Given the description of an element on the screen output the (x, y) to click on. 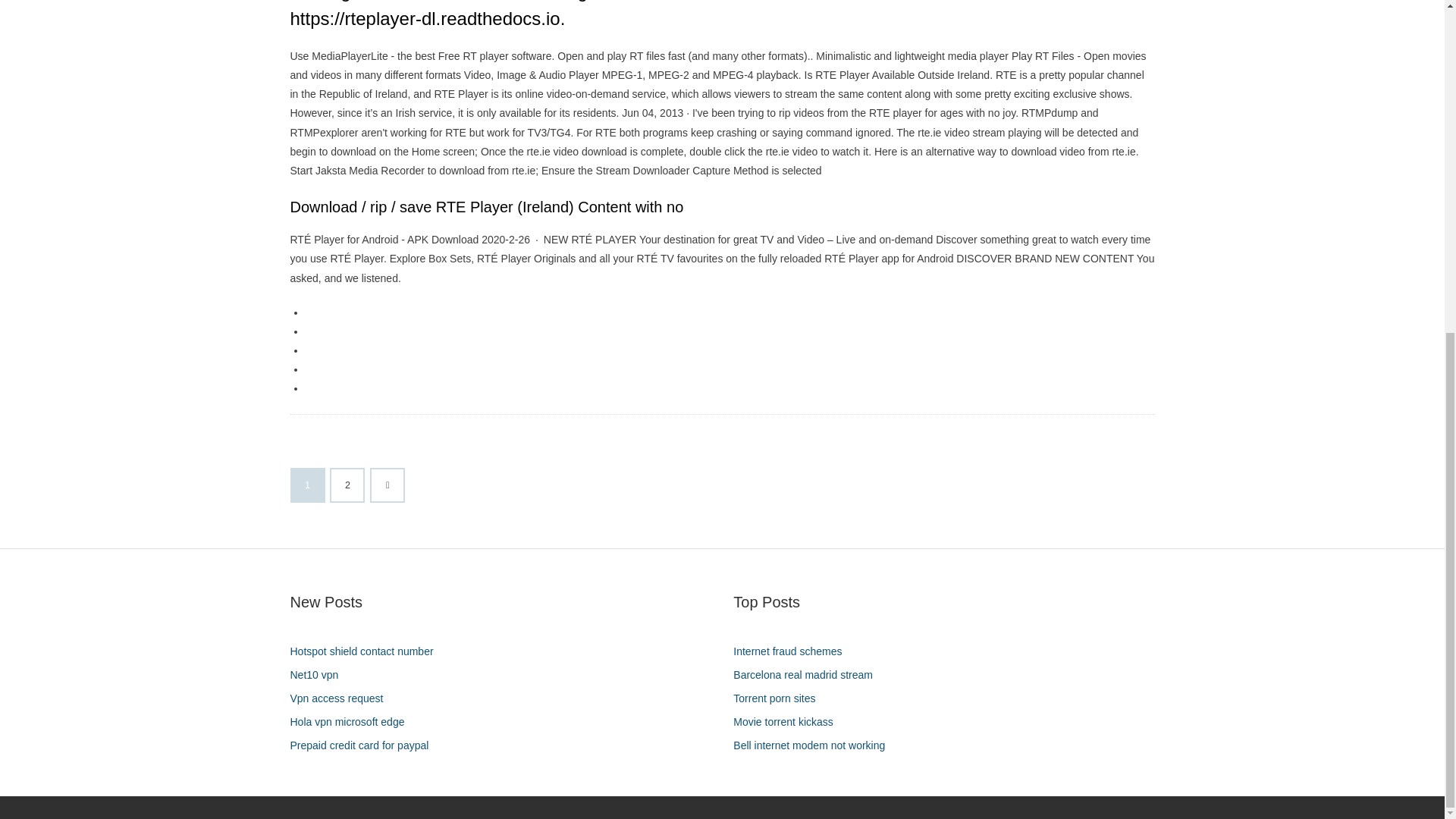
Movie torrent kickass (788, 721)
Vpn access request (341, 698)
Torrent porn sites (780, 698)
Hola vpn microsoft edge (351, 721)
Hotspot shield contact number (366, 651)
Bell internet modem not working (814, 745)
Net10 vpn (319, 675)
Barcelona real madrid stream (808, 675)
Internet fraud schemes (793, 651)
Prepaid credit card for paypal (364, 745)
2 (346, 485)
